Given the description of an element on the screen output the (x, y) to click on. 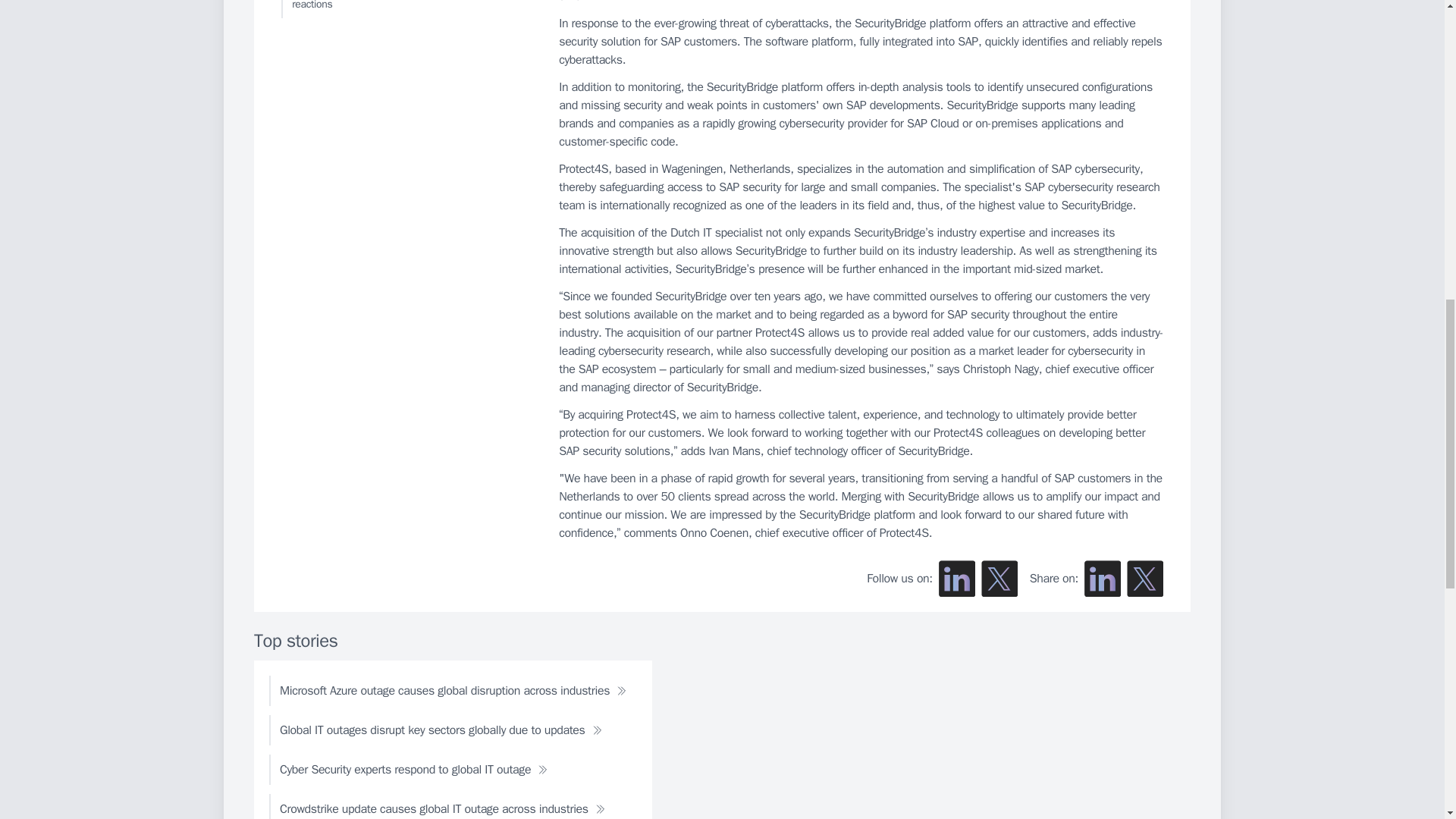
Cyber Security experts respond to global IT outage (413, 769)
Crowdstrike update causes global IT outage across industries (442, 806)
